Given the description of an element on the screen output the (x, y) to click on. 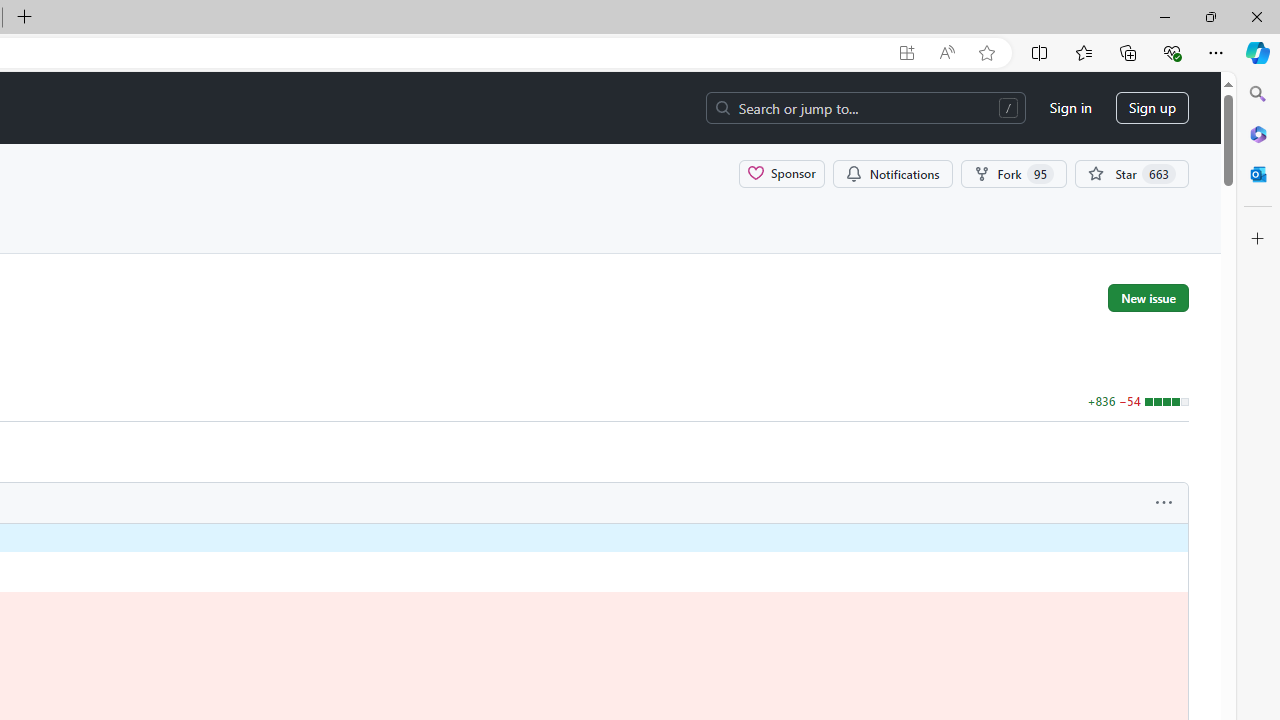
You must be signed in to star a repository (1132, 173)
App available. Install GitHub (906, 53)
Sponsor MajkiIT/polish-ads-filter (781, 173)
Show options (1163, 503)
New issue (1148, 297)
